Given the description of an element on the screen output the (x, y) to click on. 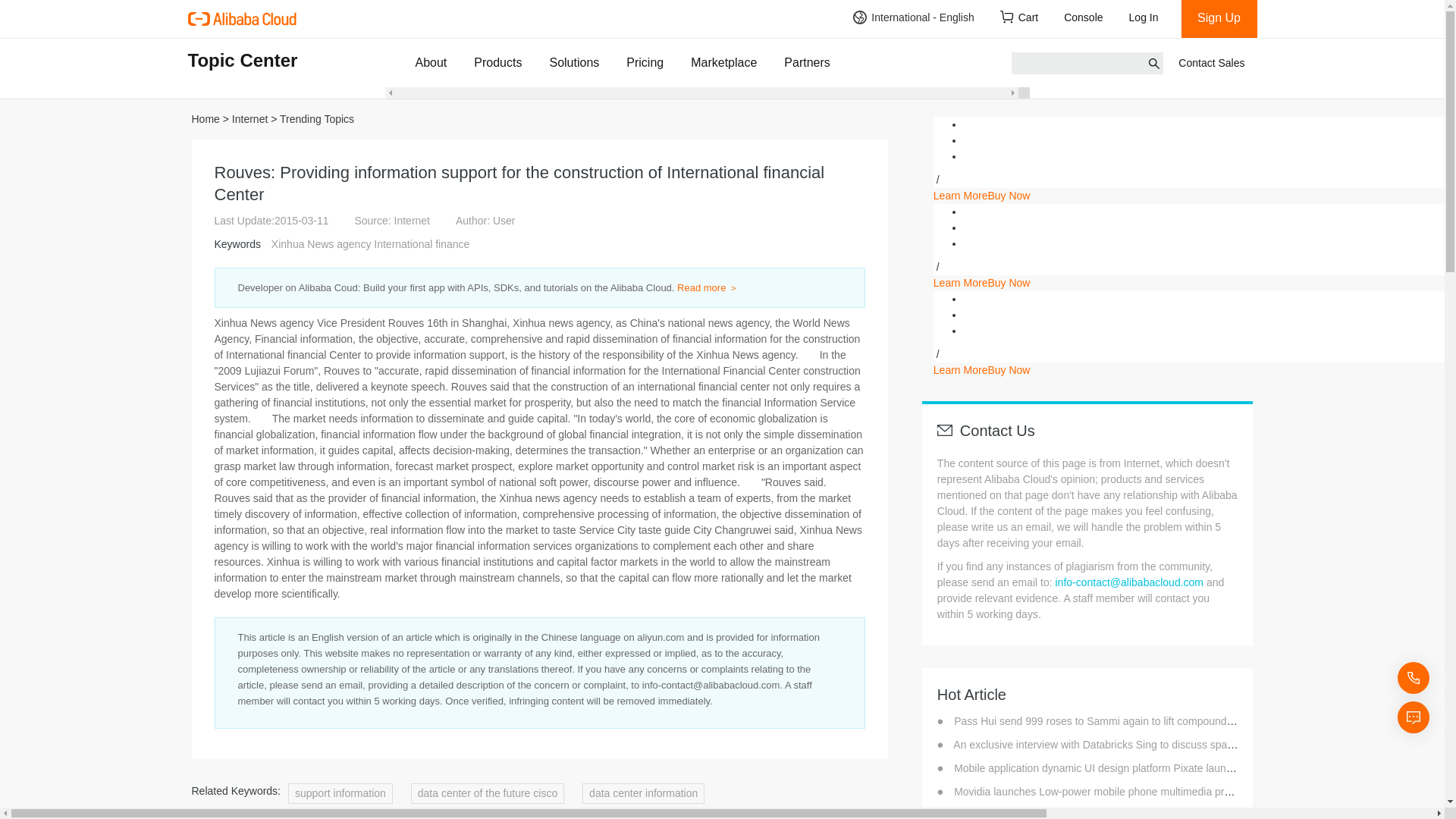
Buy Now (1008, 195)
Pricing (644, 62)
Buy Now (1008, 369)
Products (497, 62)
Buy Now (1008, 282)
Log In (1148, 18)
data warehousing information center (569, 813)
Movidia launches Low-power mobile phone multimedia processor (1106, 791)
data center information (643, 792)
